Given the description of an element on the screen output the (x, y) to click on. 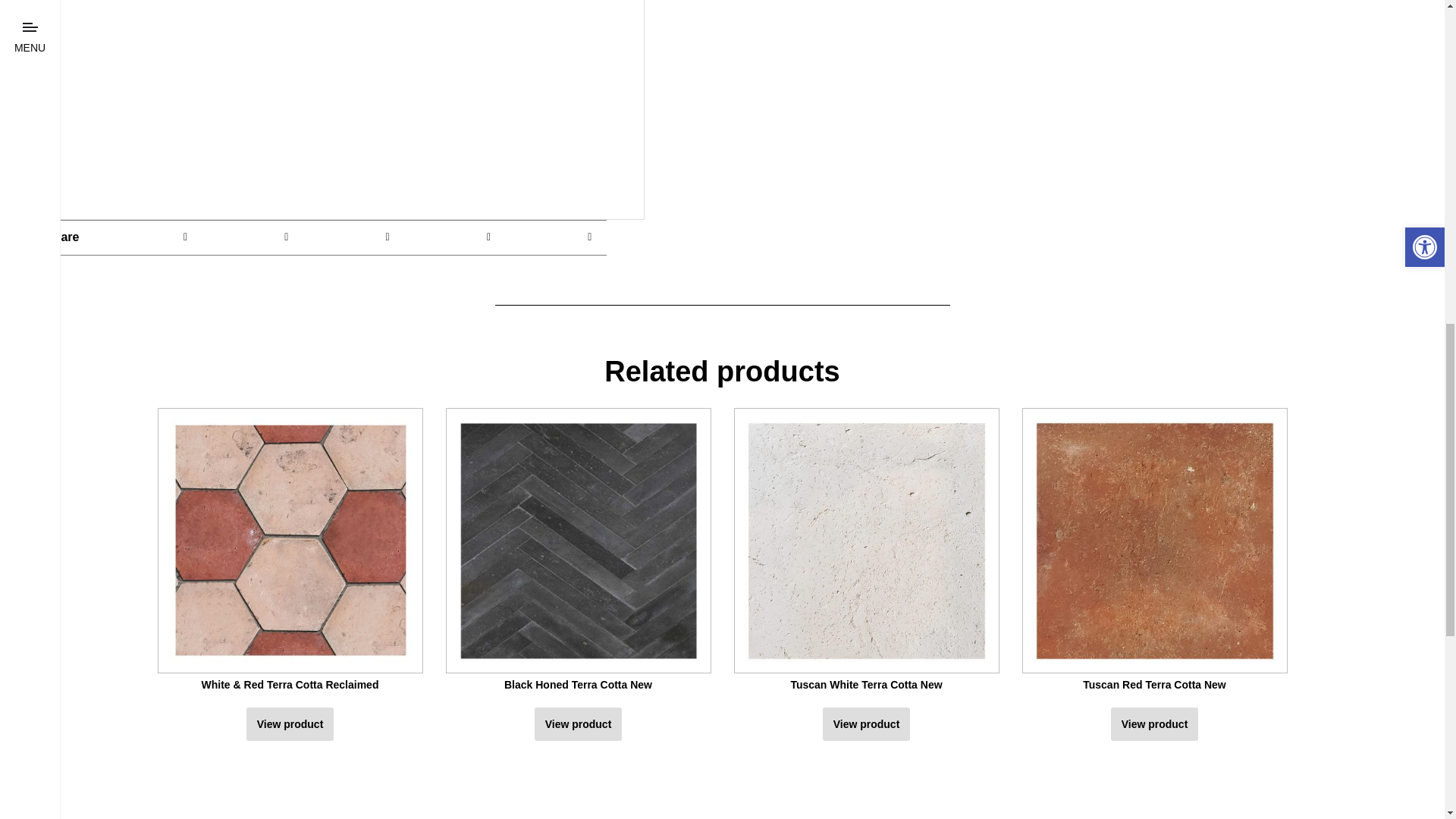
Tuscan White Terra Cotta New (865, 551)
View product (1154, 724)
View product (578, 724)
View product (290, 724)
Black Honed Terra Cotta New (578, 551)
View product (866, 724)
Tuscan Red Terra Cotta New (1154, 551)
